Given the description of an element on the screen output the (x, y) to click on. 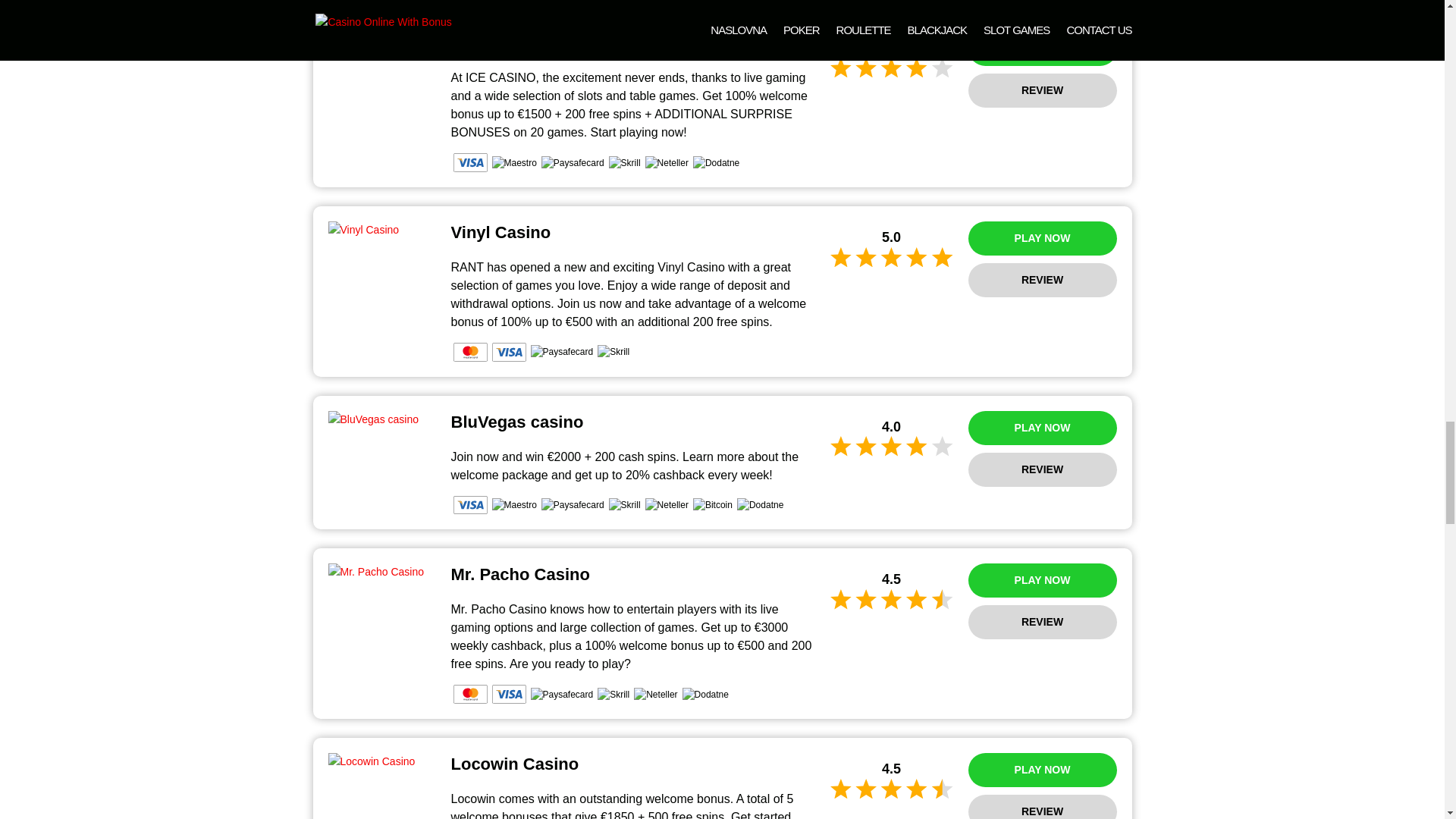
REVIEW (1042, 469)
REVIEW (1042, 622)
REVIEW (1042, 279)
PLAY NOW (1042, 238)
REVIEW (1042, 90)
PLAY NOW (1042, 580)
REVIEW (1042, 806)
PLAY NOW (1042, 48)
PLAY NOW (1042, 428)
PLAY NOW (1042, 769)
